Given the description of an element on the screen output the (x, y) to click on. 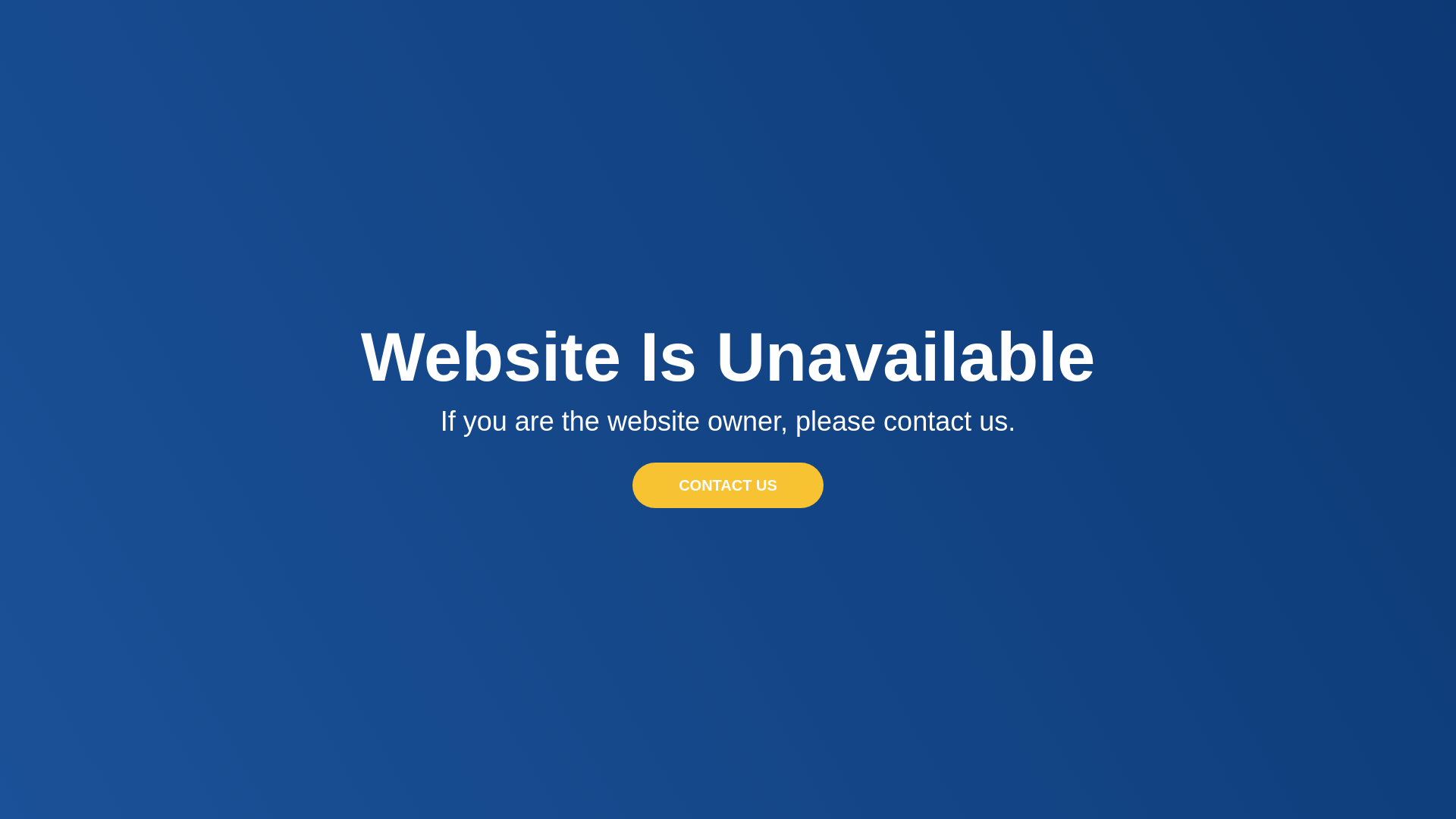
CONTACT US (727, 484)
